Given the description of an element on the screen output the (x, y) to click on. 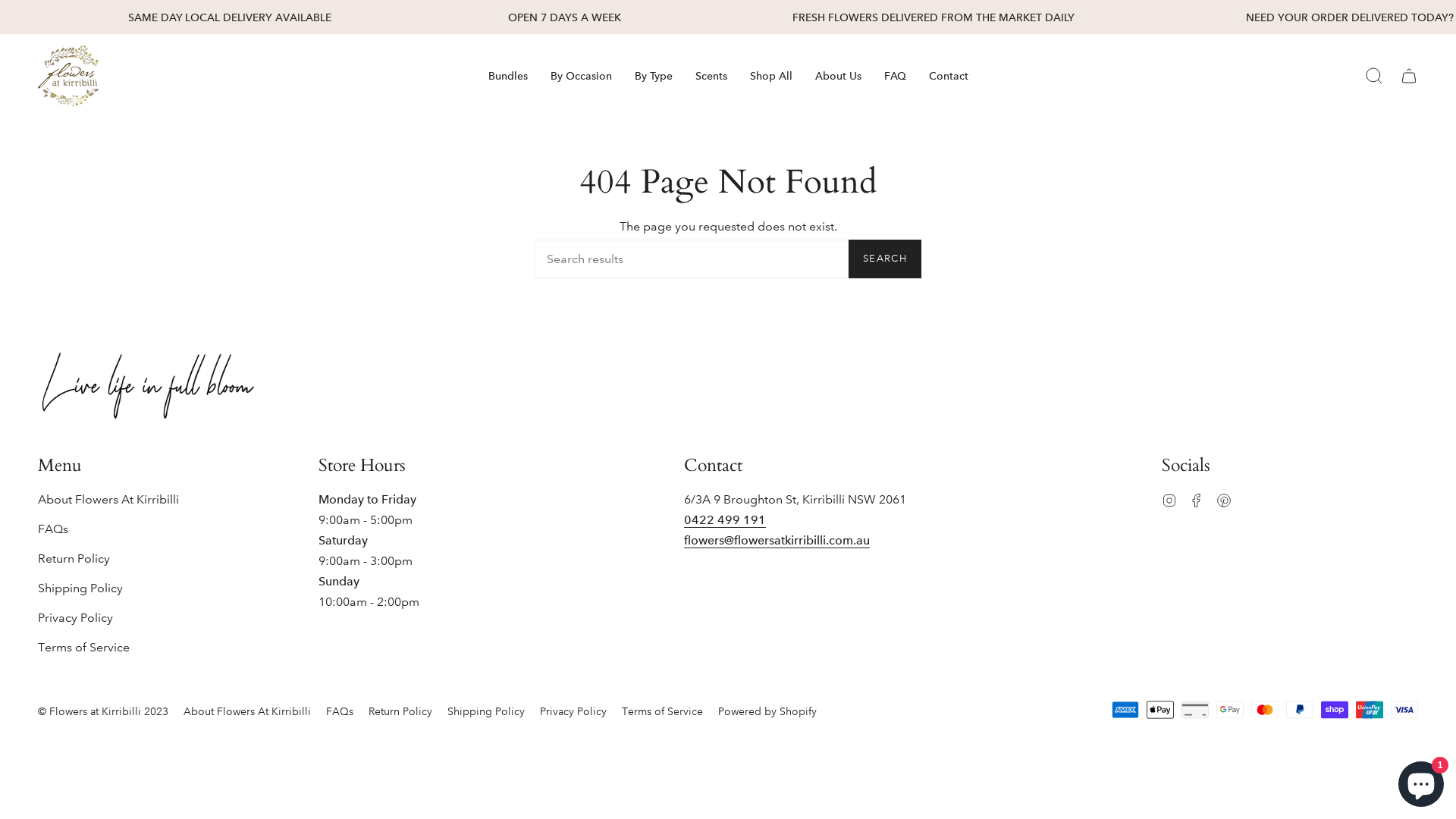
Shop All Element type: text (770, 75)
Shipping Policy Element type: text (79, 587)
Shipping Policy Element type: text (485, 711)
By Occasion Element type: text (580, 75)
About Flowers At Kirribilli Element type: text (107, 499)
Instagram Element type: text (1168, 499)
FAQ Element type: text (894, 75)
0422 499 191 Element type: text (724, 521)
Return Policy Element type: text (400, 711)
Scents Element type: text (711, 75)
About Flowers At Kirribilli Element type: text (246, 711)
Terms of Service Element type: text (83, 647)
Privacy Policy Element type: text (572, 711)
Facebook Element type: text (1196, 499)
Return Policy Element type: text (73, 558)
Privacy Policy Element type: text (74, 617)
Powered by Shopify Element type: text (767, 711)
Contact Element type: text (948, 75)
FAQs Element type: text (339, 711)
About Us Element type: text (837, 75)
FAQs Element type: text (52, 528)
flowers@flowersatkirribilli.com.au Element type: text (776, 542)
By Type Element type: text (653, 75)
Pinterest Element type: text (1223, 499)
SEARCH Element type: text (884, 258)
Shopify online store chat Element type: hover (1420, 780)
Cart Element type: text (1408, 75)
Terms of Service Element type: text (661, 711)
Bundles Element type: text (507, 75)
